Given the description of an element on the screen output the (x, y) to click on. 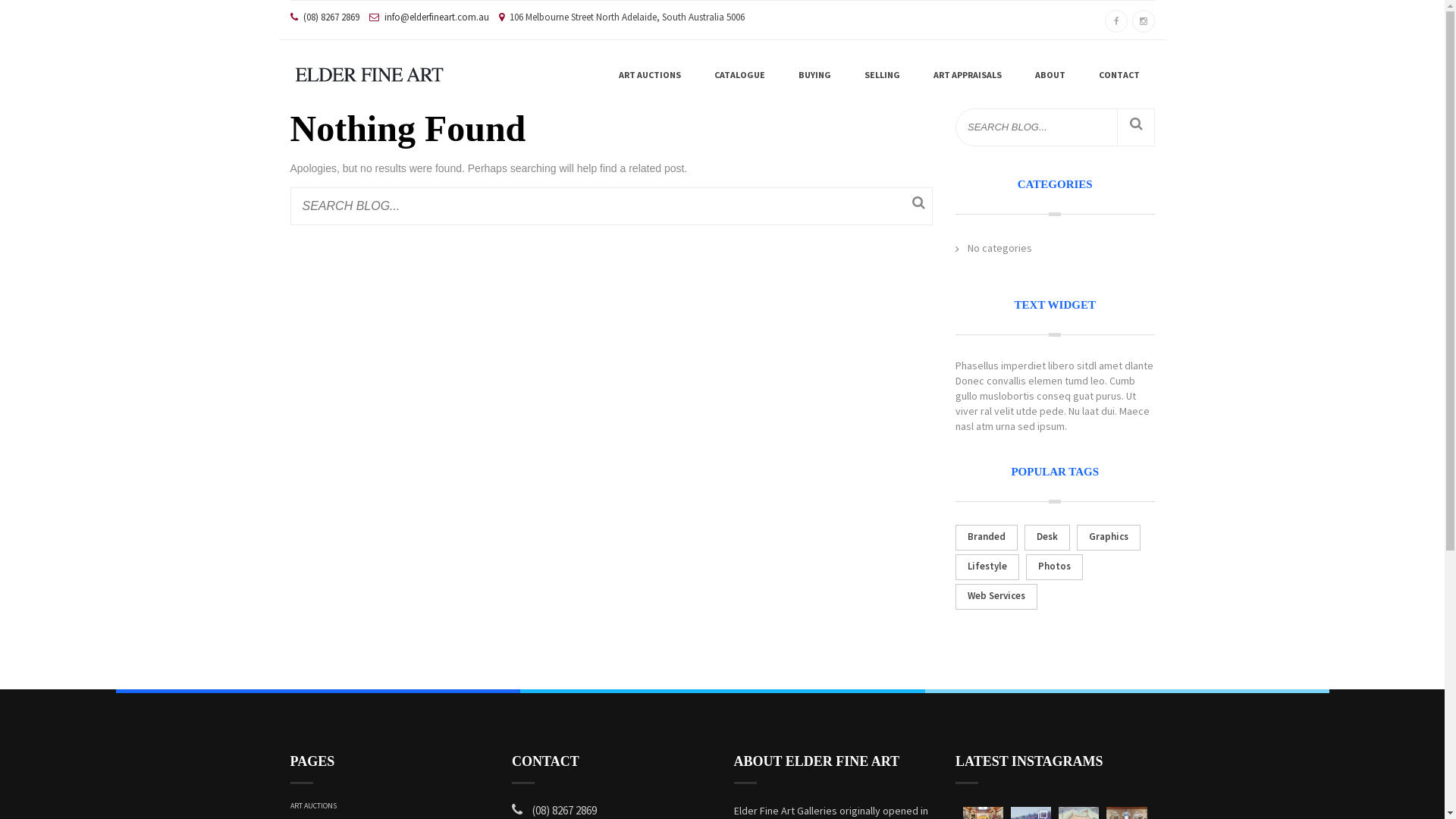
Phone & Absentee Bidding Element type: text (620, 155)
(08) 8267 2869 Element type: text (564, 810)
Web Services Element type: text (996, 596)
ABOUT Element type: text (1049, 74)
ART AUCTIONS Element type: text (649, 74)
ART APPRAISALS Element type: text (967, 74)
SELLING Element type: text (882, 74)
  Element type: text (368, 66)
CATALOGUE Element type: text (739, 74)
Search Element type: text (919, 206)
ART AUCTIONS Element type: text (312, 805)
Branded Element type: text (986, 537)
Photos Element type: text (1054, 567)
Search Element type: text (1135, 127)
info@elderfineart.com.au Element type: text (435, 16)
Desk Element type: text (1047, 537)
CONTACT Element type: text (1118, 74)
Lifestyle Element type: text (987, 567)
Graphics Element type: text (1108, 537)
BUYING Element type: text (814, 74)
Online Art Appraisals Element type: text (940, 155)
(08) 8267 2869 Element type: text (331, 16)
